Given the description of an element on the screen output the (x, y) to click on. 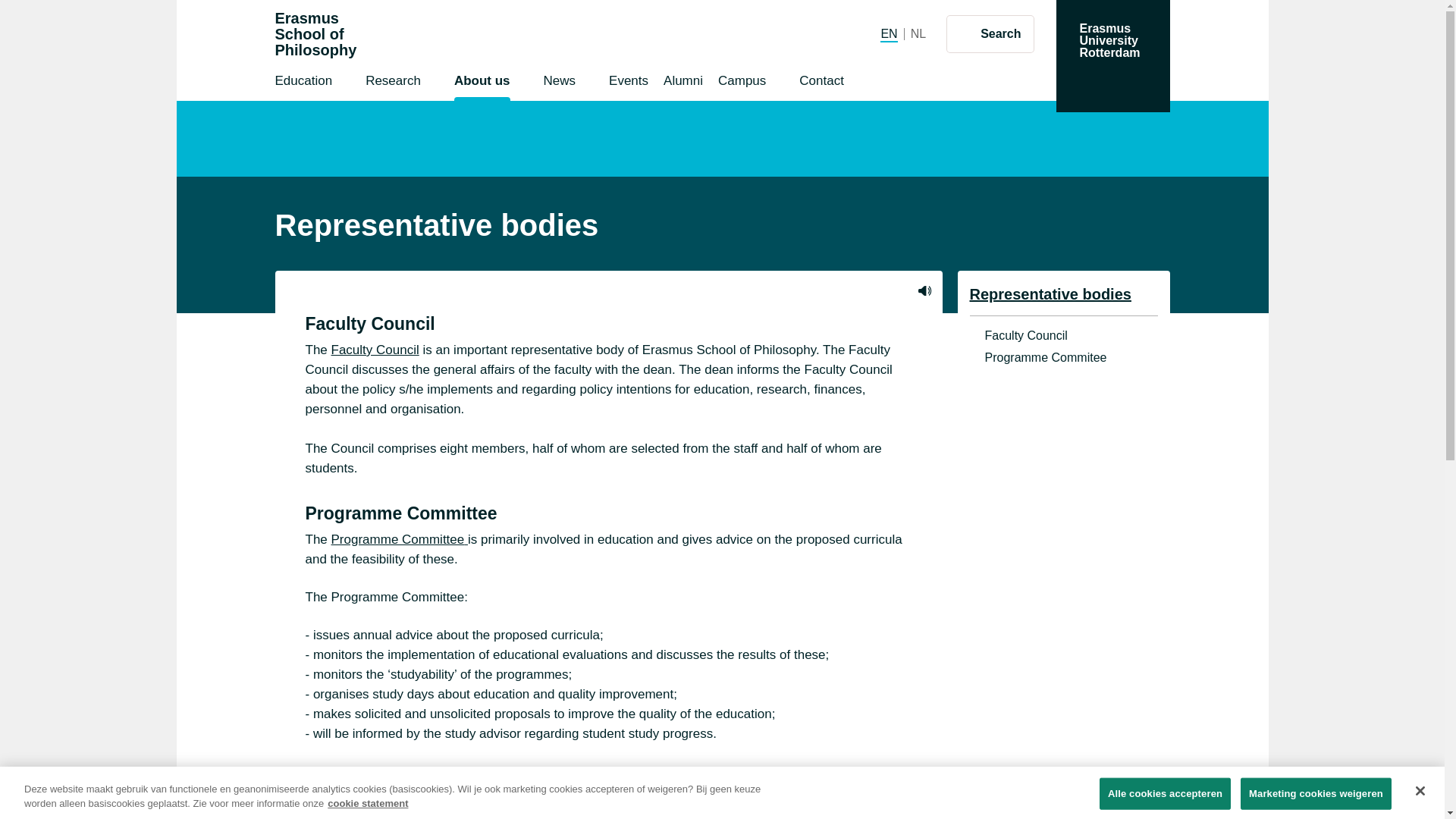
Research (918, 33)
Search (392, 82)
About us (989, 33)
Listen to this page using ReadSpeaker (315, 34)
Education (482, 82)
